Given the description of an element on the screen output the (x, y) to click on. 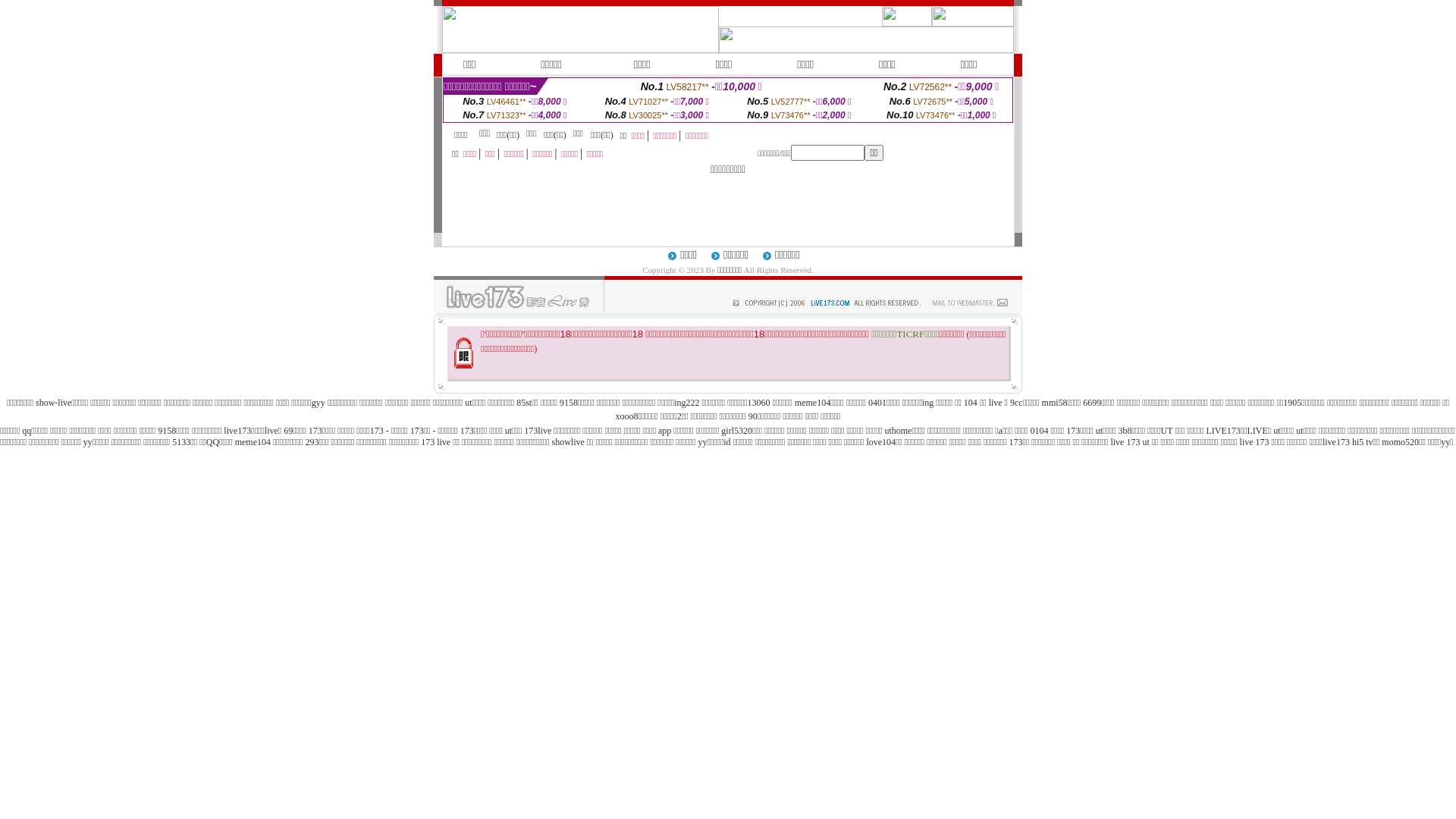
173live Element type: text (537, 430)
live 173 Element type: text (1124, 441)
meme104 Element type: text (252, 441)
